Given the description of an element on the screen output the (x, y) to click on. 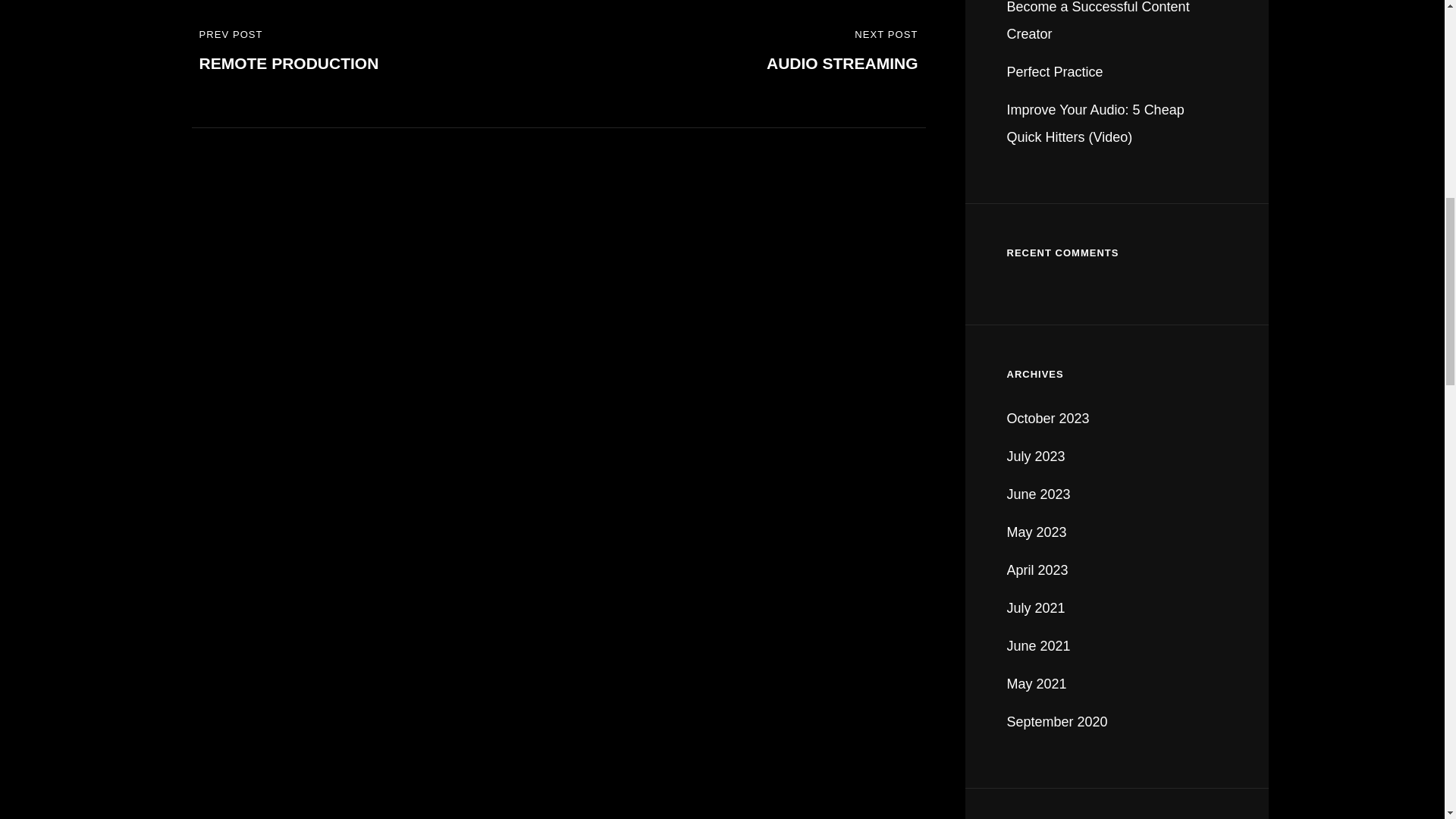
Become a Successful Content Creator (1098, 20)
May 2023 (366, 51)
Perfect Practice (1037, 532)
September 2020 (1055, 71)
October 2023 (1057, 721)
June 2021 (1048, 418)
April 2023 (749, 51)
May 2021 (1038, 646)
June 2023 (1037, 569)
July 2023 (1037, 683)
July 2021 (1038, 493)
